Given the description of an element on the screen output the (x, y) to click on. 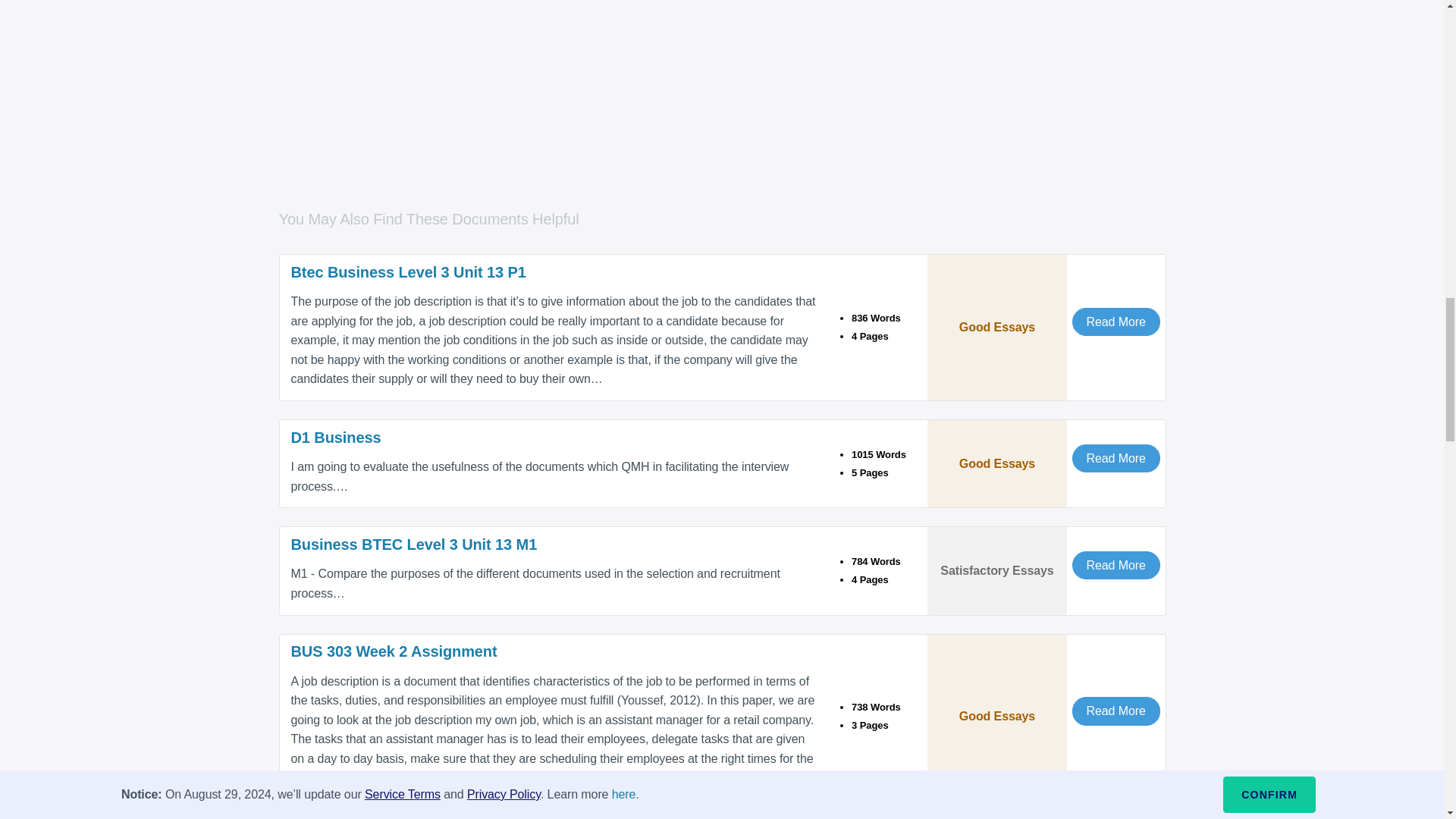
Read More (1115, 458)
D1 Business (553, 437)
Read More (1115, 321)
Business BTEC Level 3 Unit 13 M1 (553, 544)
Btec Business Level 3 Unit 13 P1 (553, 272)
Read More (1115, 565)
